Given the description of an element on the screen output the (x, y) to click on. 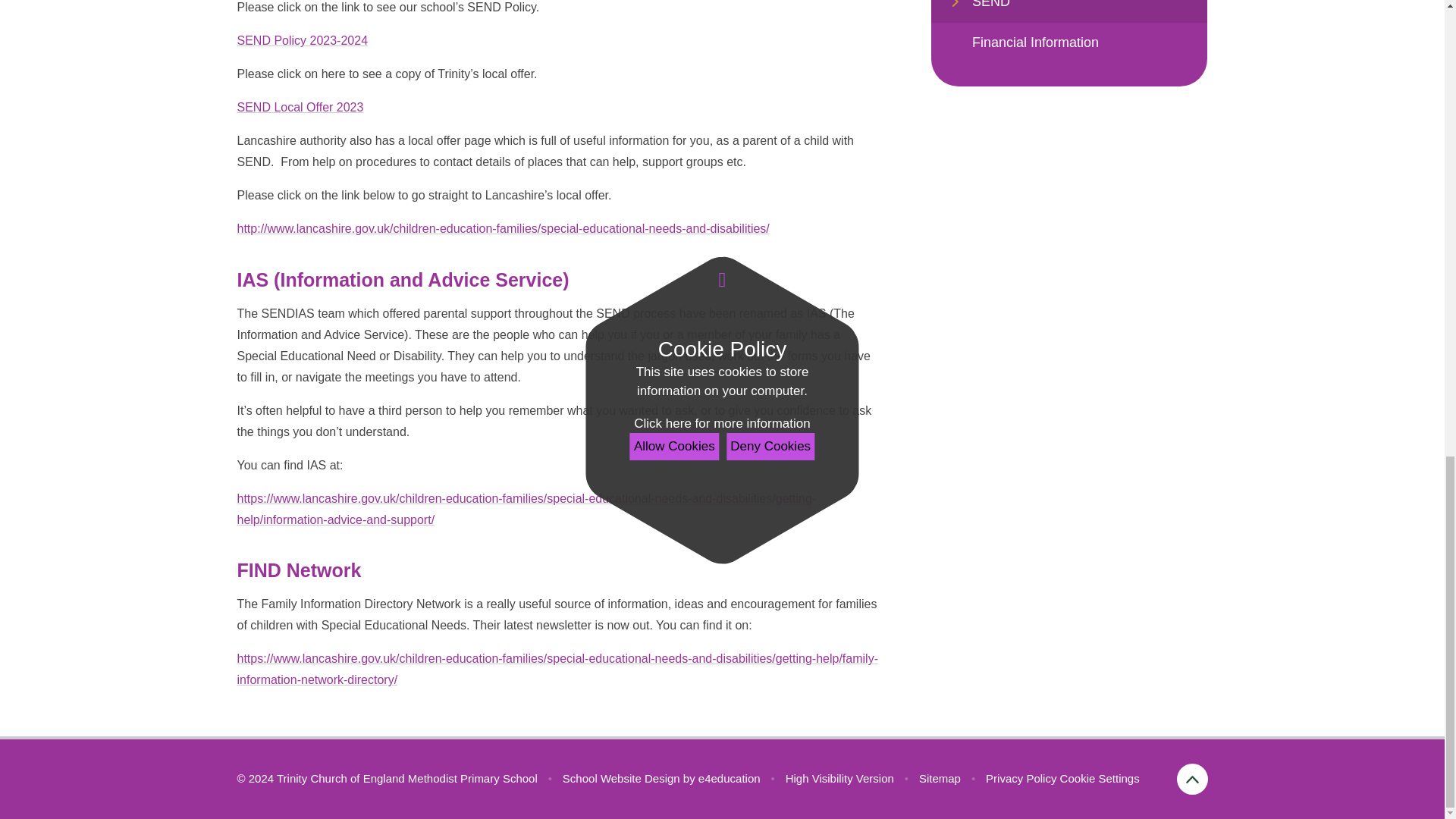
Cookie Settings (1099, 778)
